Given the description of an element on the screen output the (x, y) to click on. 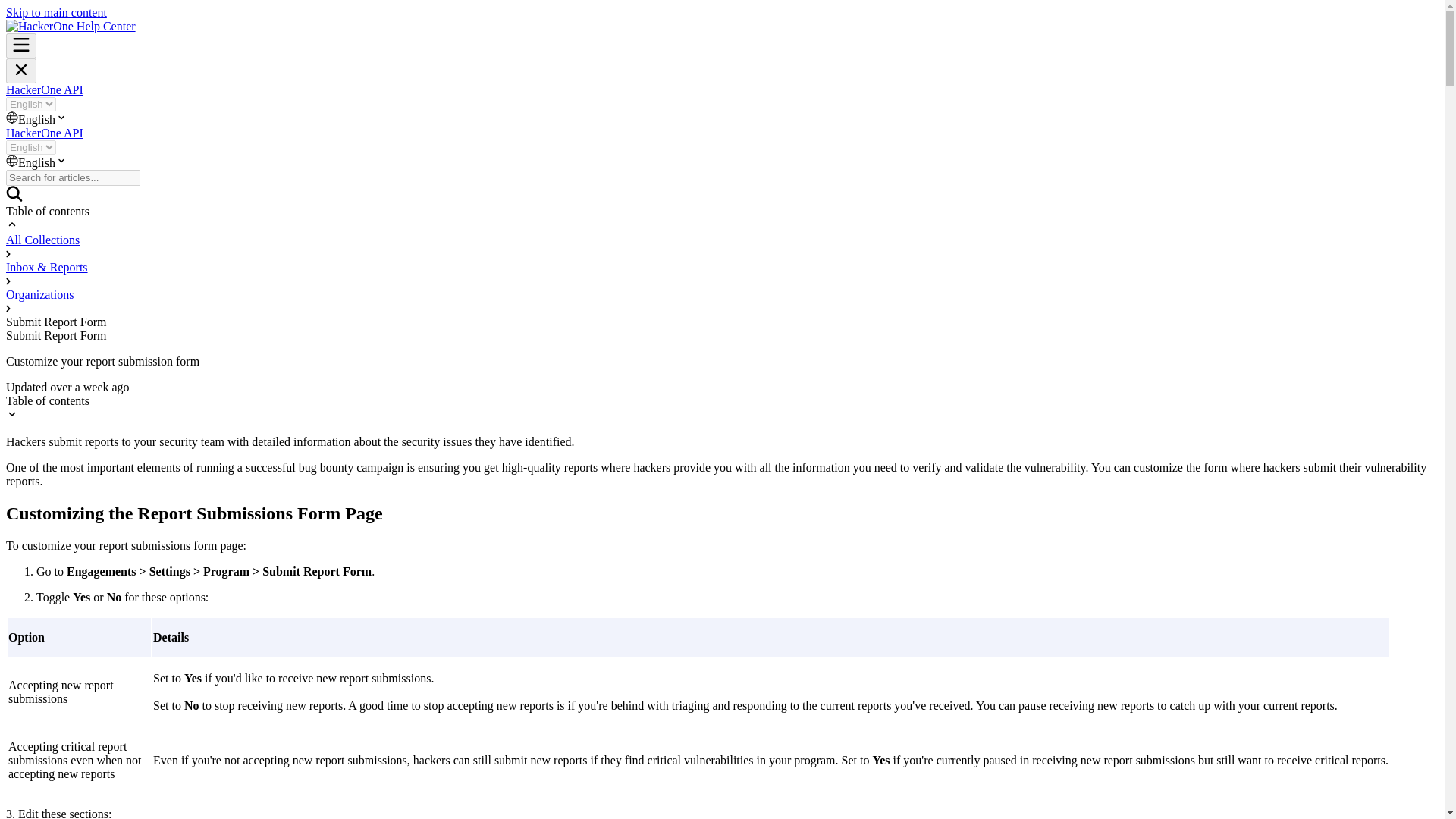
HackerOne API (43, 132)
All Collections (42, 239)
HackerOne API (43, 89)
Organizations (39, 294)
Skip to main content (55, 11)
